Given the description of an element on the screen output the (x, y) to click on. 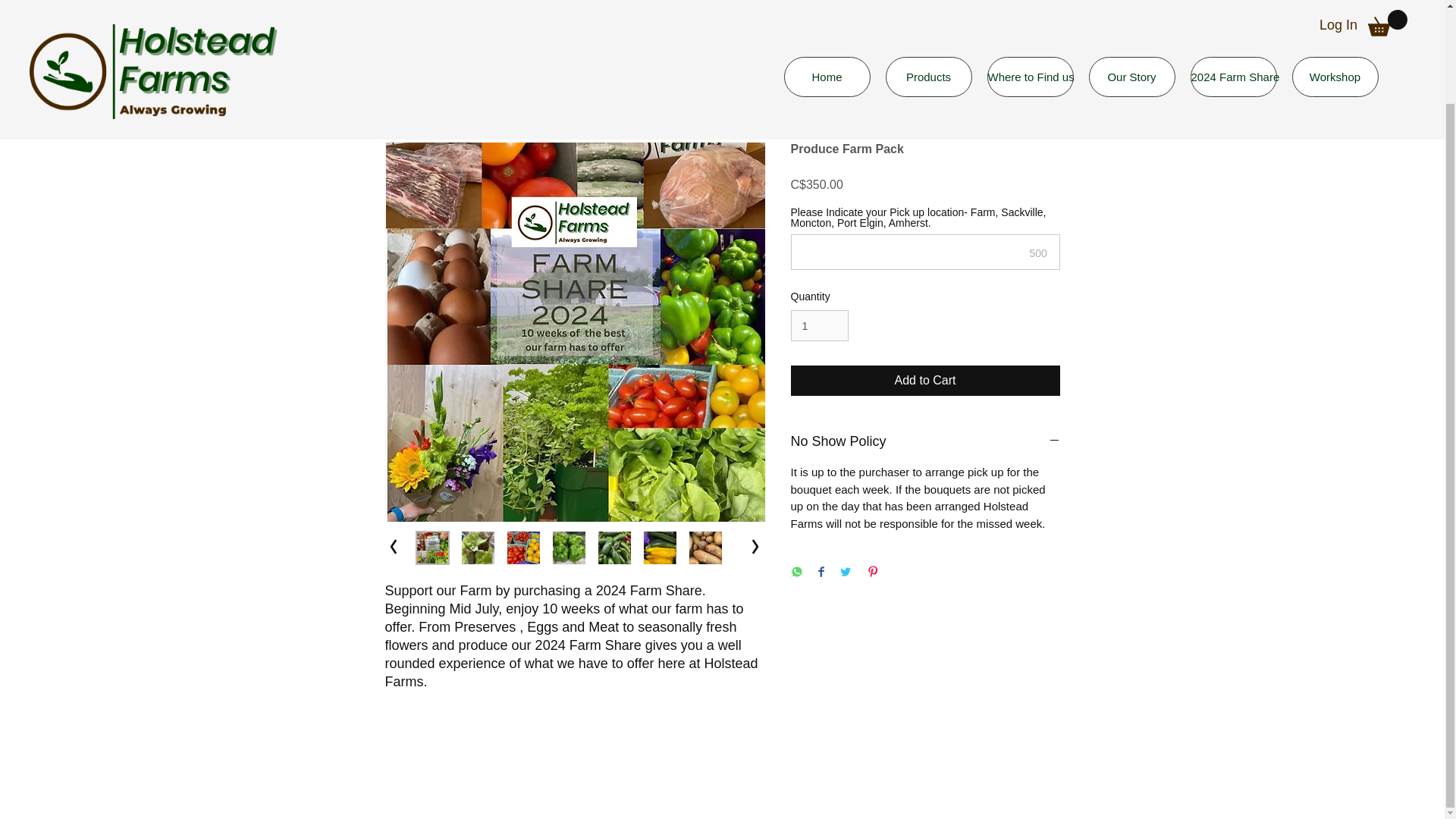
No Show Policy (924, 441)
1 (818, 325)
Add to Cart (924, 380)
Homepage (153, 10)
